Given the description of an element on the screen output the (x, y) to click on. 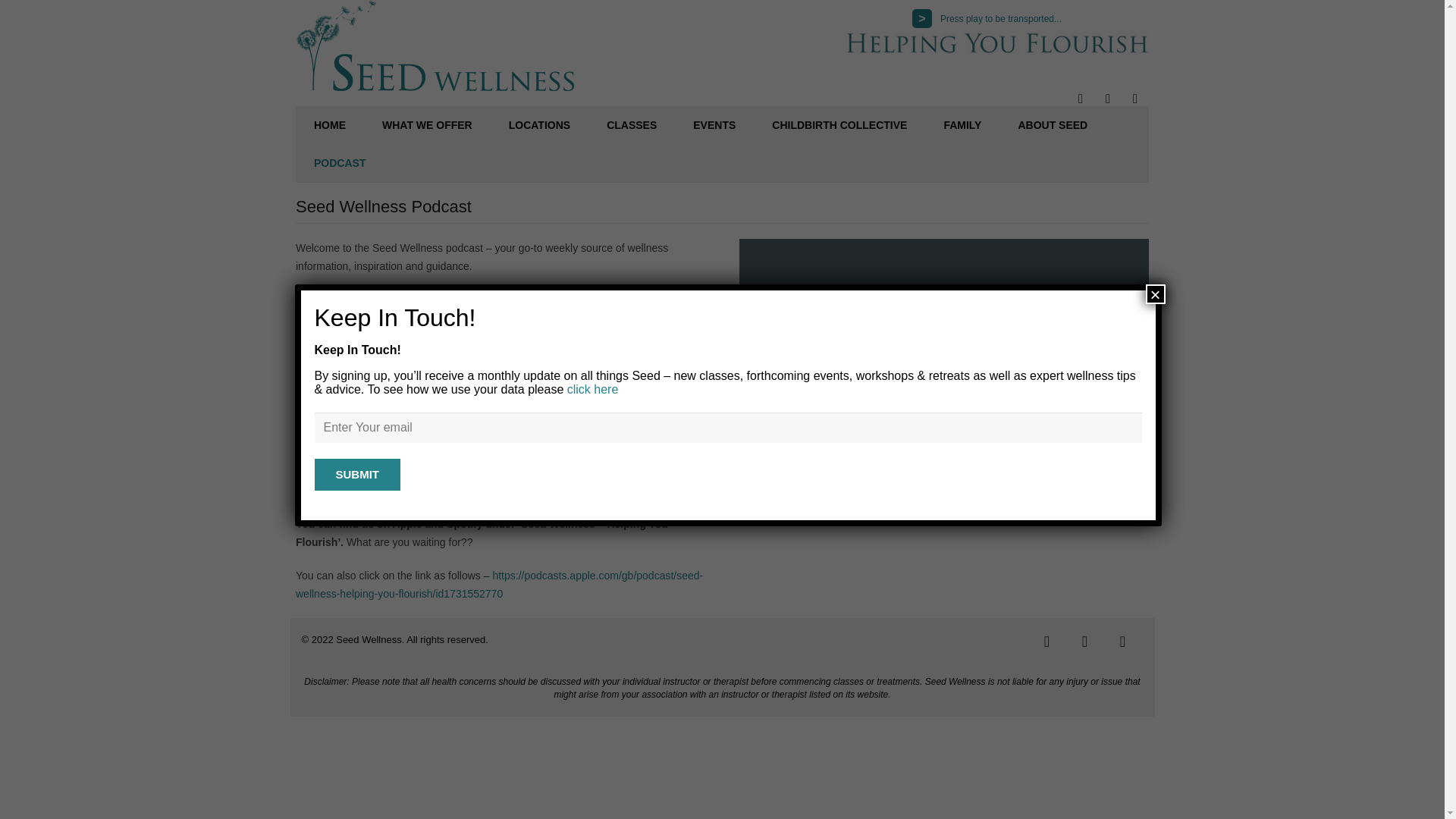
HOME (329, 125)
WHAT WE OFFER (427, 125)
button (921, 18)
Submit (357, 473)
